Given the description of an element on the screen output the (x, y) to click on. 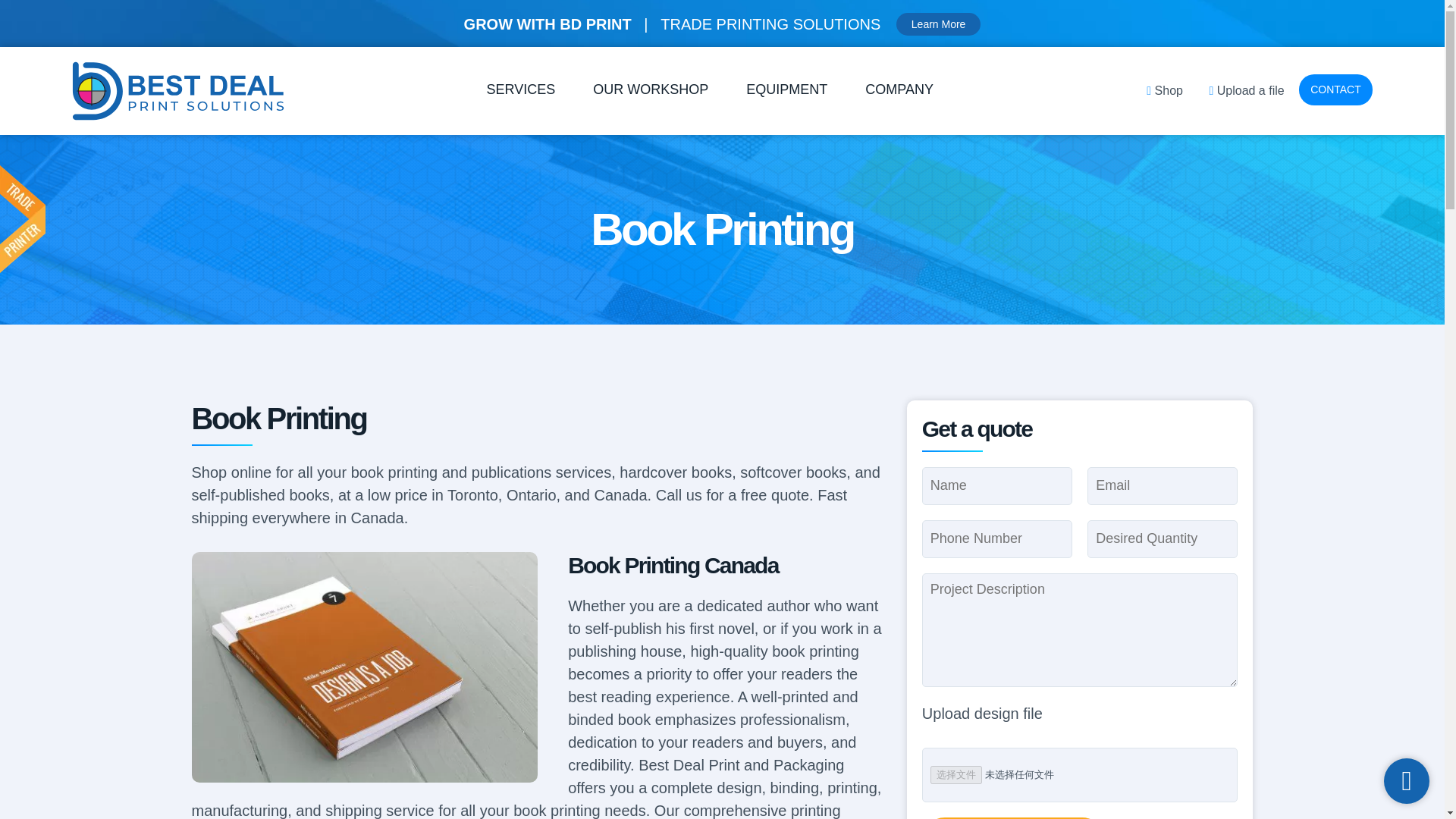
Learn More (938, 24)
